Given the description of an element on the screen output the (x, y) to click on. 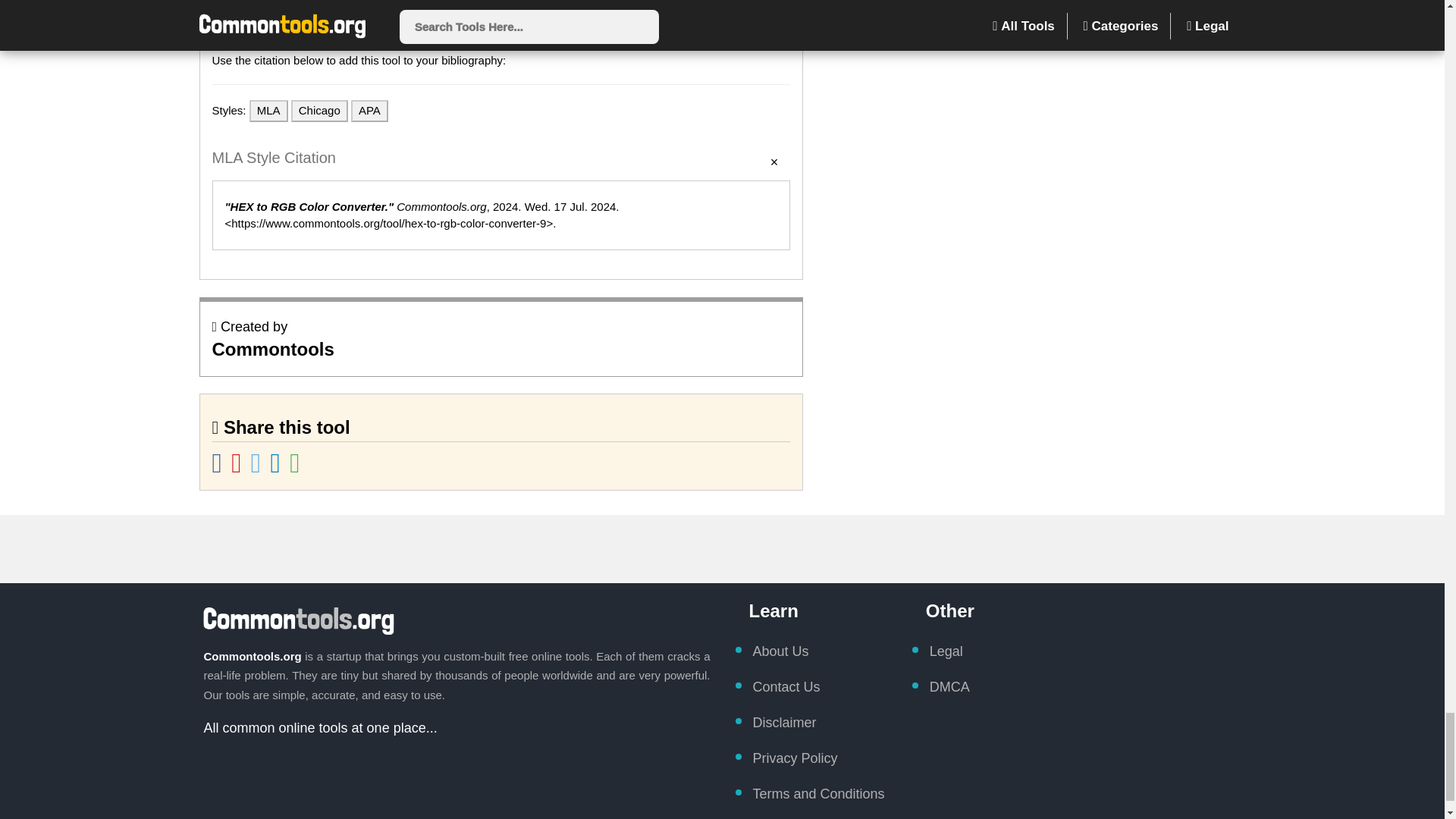
Share on Linkedin (276, 468)
Share on Facebook (218, 468)
Chicago (319, 110)
MLA (268, 110)
Share on Twitter (256, 468)
APA (369, 110)
